Given the description of an element on the screen output the (x, y) to click on. 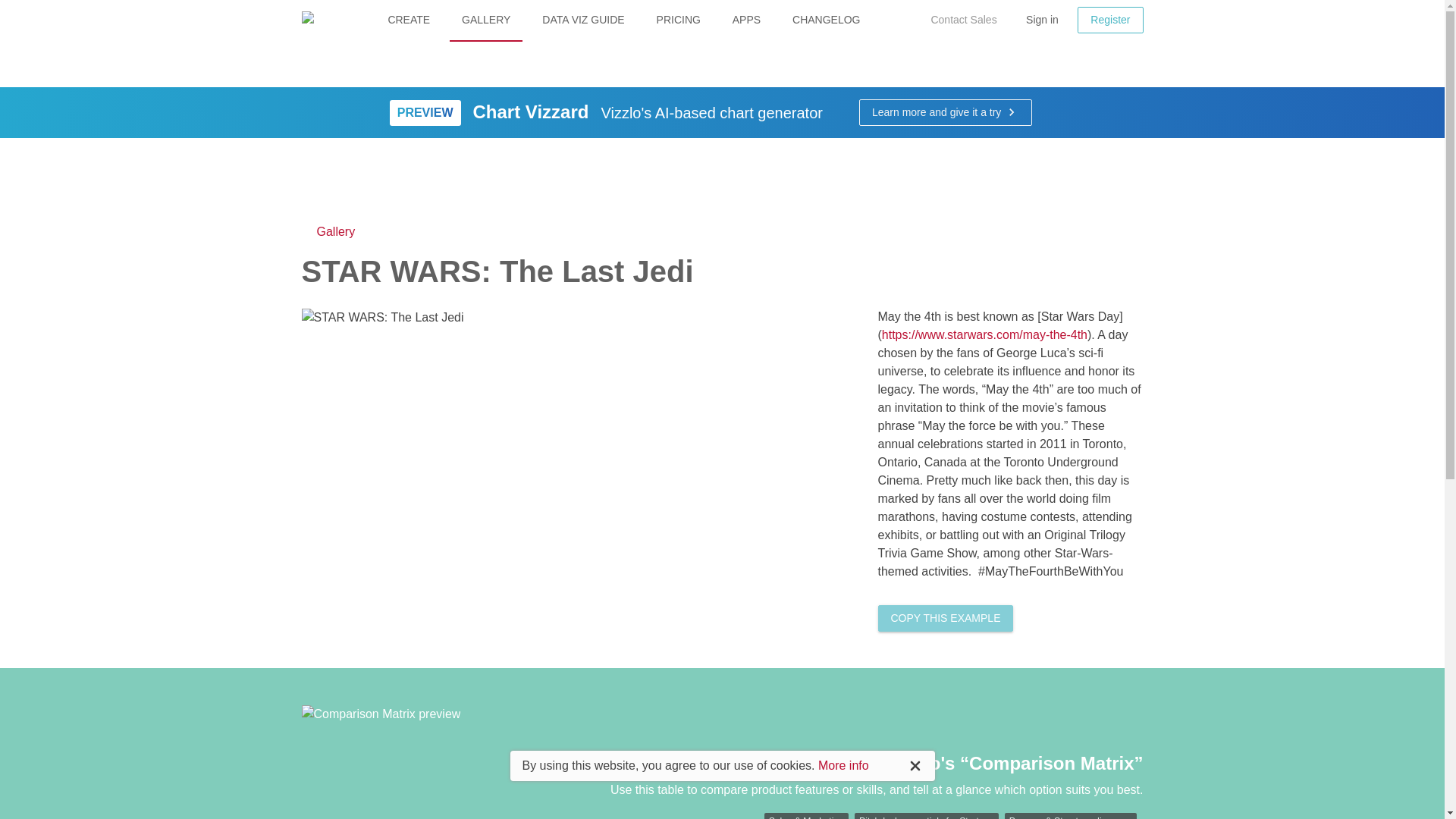
PRICING (679, 20)
Submit (746, 421)
Gallery (328, 231)
Learn more and give it a try (945, 112)
DATA VIZ GUIDE (582, 20)
Sign in (1042, 18)
CREATE (408, 20)
COPY THIS EXAMPLE (945, 618)
Create a new Comparison Matrix like this (945, 618)
GALLERY (485, 20)
